Given the description of an element on the screen output the (x, y) to click on. 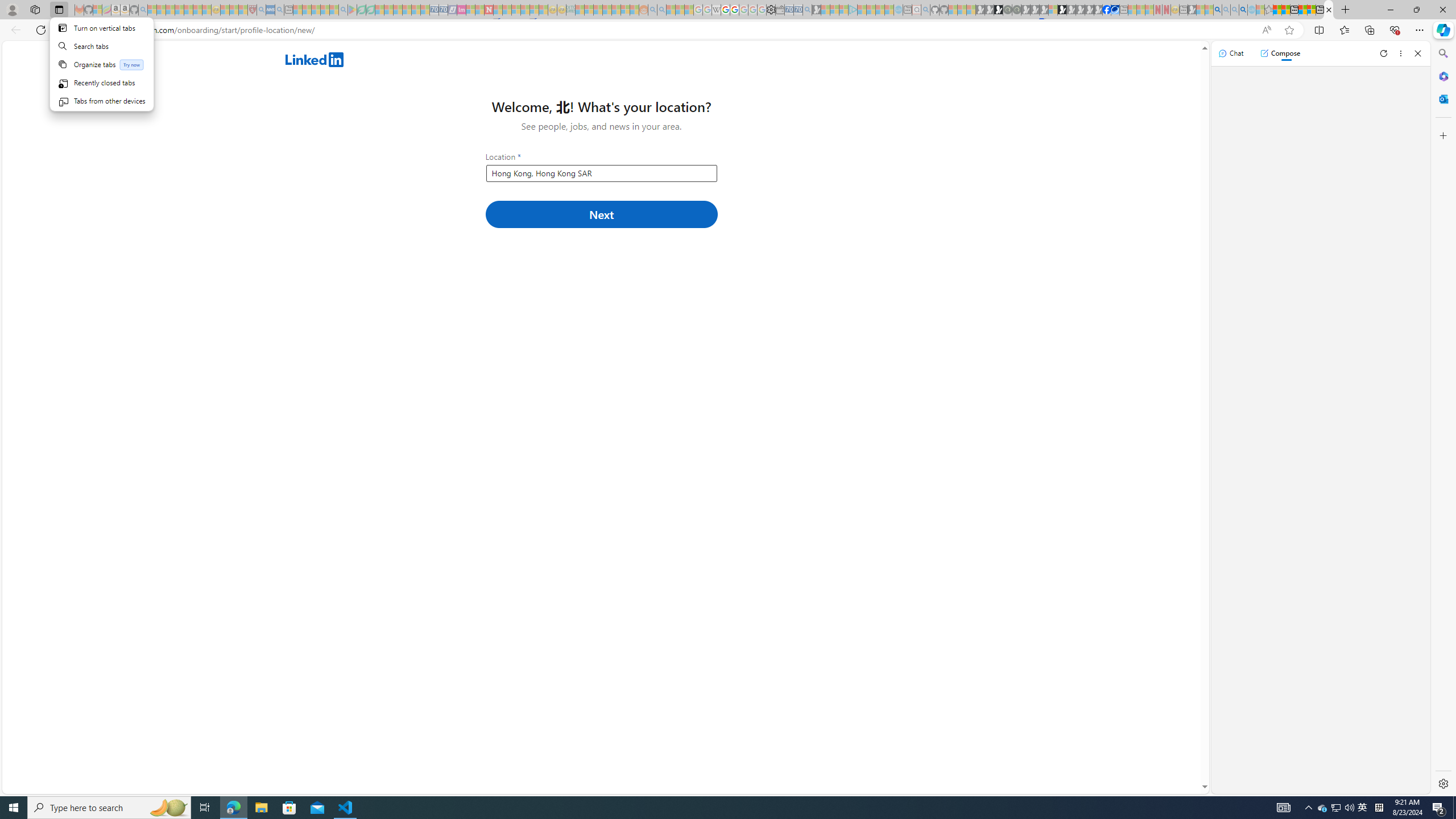
Tab Actions (100, 64)
Wallet - Sleeping (779, 9)
AQI & Health | AirNow.gov (1115, 9)
